Given the description of an element on the screen output the (x, y) to click on. 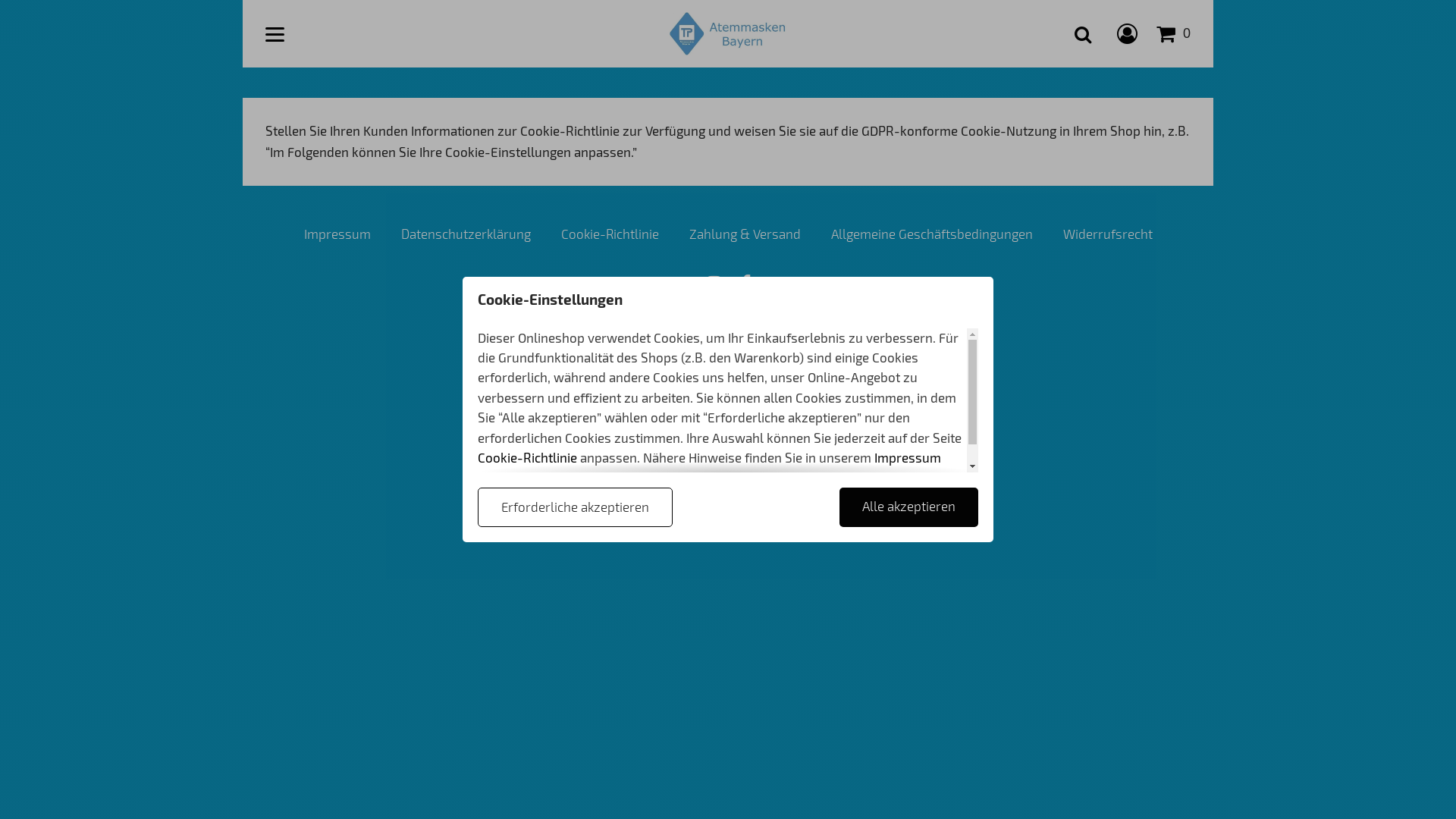
Zahlung & Versand Element type: text (744, 233)
Cookie-Richtlinie Element type: text (527, 457)
Widerrufsrecht Element type: text (1107, 233)
Erforderliche akzeptieren Element type: text (574, 507)
Impressum Element type: text (336, 233)
Alle akzeptieren Element type: text (908, 507)
Warenkorb anzeigen. Sie haben 0 Artikel im Warenkorb.
0 Element type: text (1173, 33)
Impressum Element type: text (907, 457)
Rechnung Element type: hover (663, 368)
Vorkasse Element type: hover (704, 368)
ATEMMASKEN Bayern ..::.. by TEUFEL Prototypen GmbH Element type: hover (727, 33)
Suche Element type: text (1082, 33)
PayPal Element type: hover (767, 368)
UPS Element type: hover (774, 416)
DHL Element type: hover (708, 416)
Cookie-Richtlinie Element type: text (609, 233)
